Given the description of an element on the screen output the (x, y) to click on. 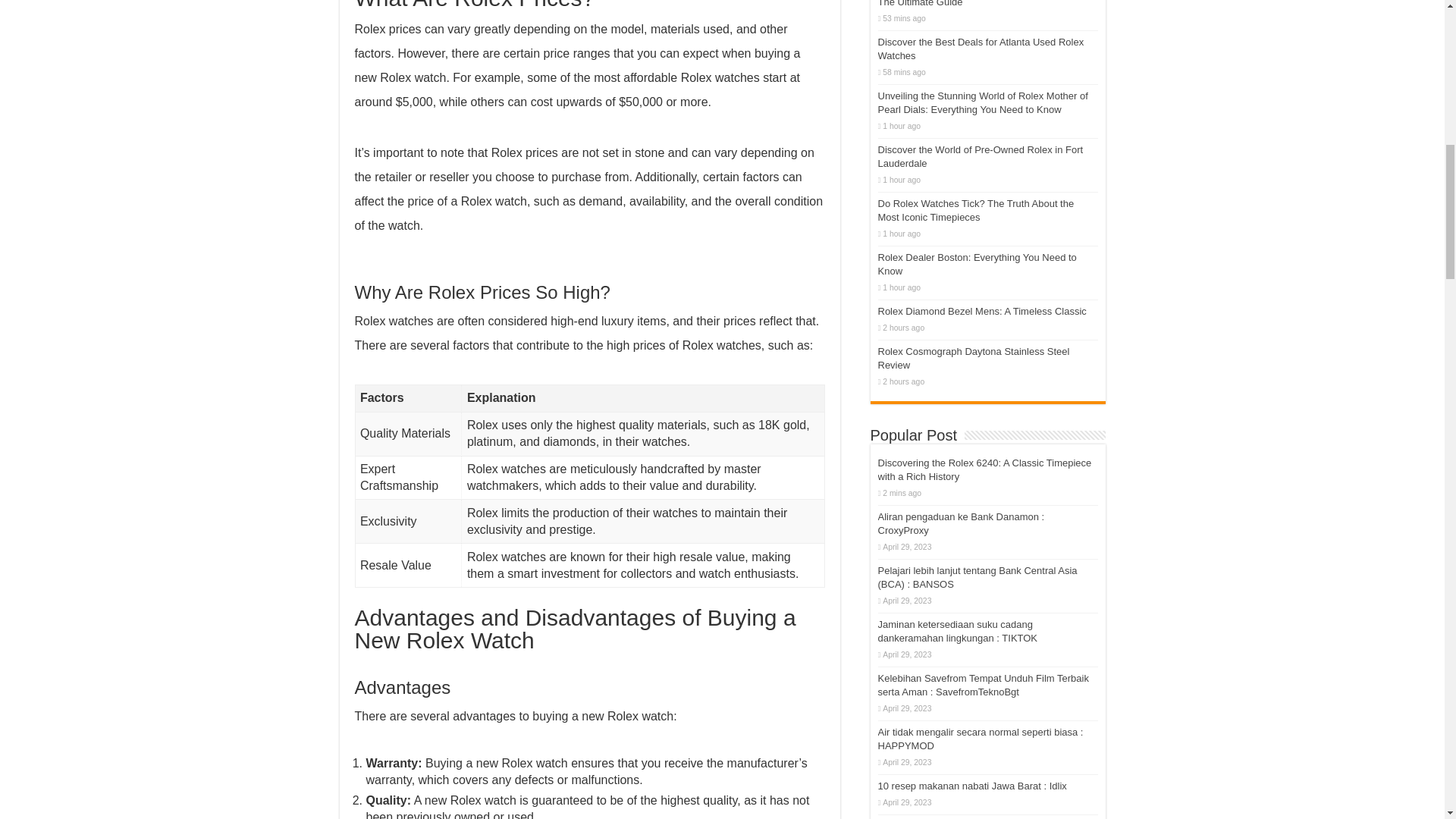
Air tidak mengalir secara normal seperti biasa : HAPPYMOD (980, 738)
10 resep makanan nabati Jawa Barat : Idlix (972, 785)
Aliran pengaduan ke Bank Danamon : CroxyProxy (961, 523)
Discover the World of Pre-Owned Rolex in Fort Lauderdale (980, 156)
Rolex Diamond Bezel Mens: A Timeless Classic (981, 310)
Rolex Dealer Boston: Everything You Need to Know (977, 263)
Rolex Cosmograph Daytona Stainless Steel Review (973, 358)
Discover the Best Deals for Atlanta Used Rolex Watches (980, 48)
